Given the description of an element on the screen output the (x, y) to click on. 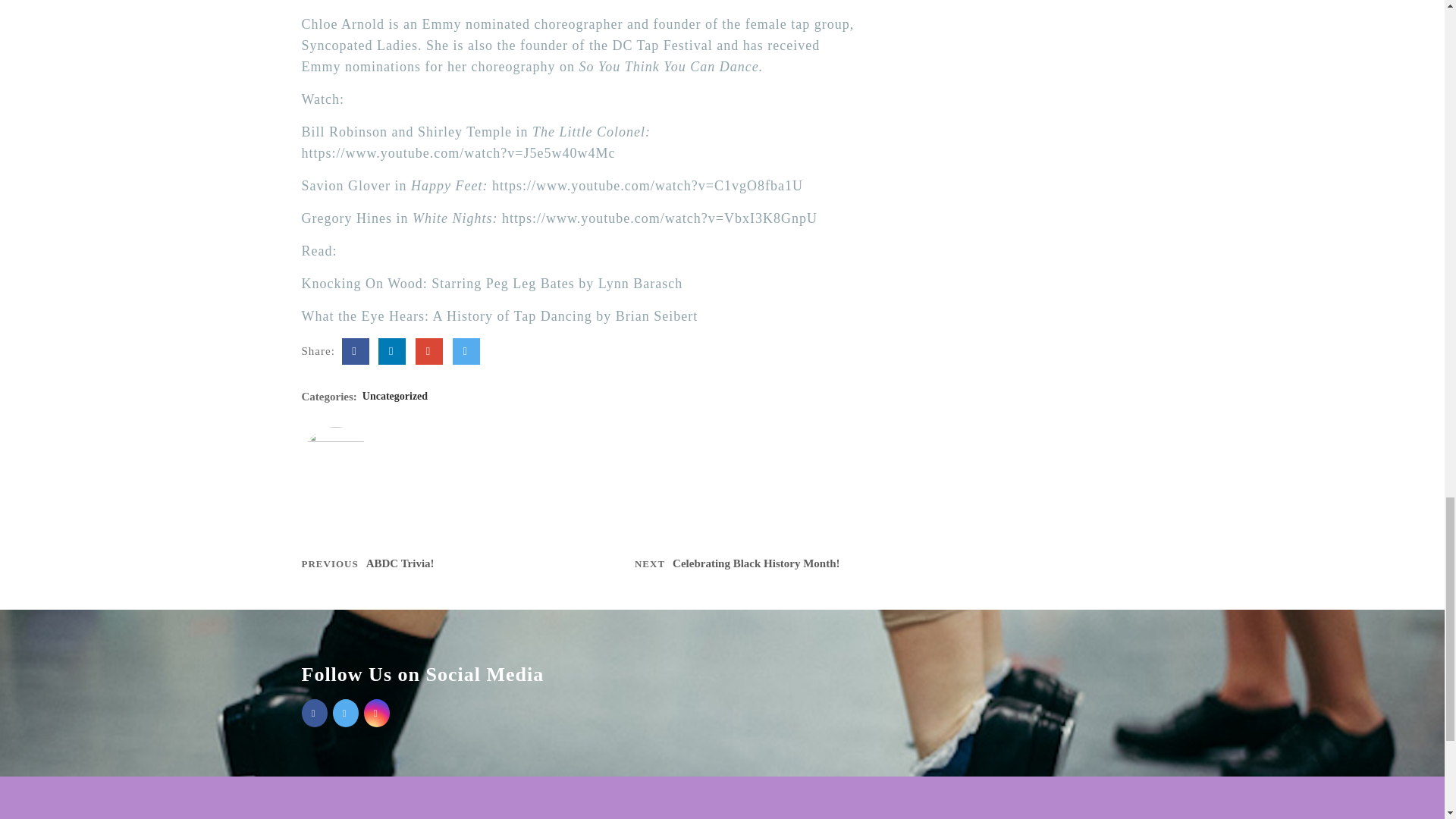
Uncategorized (395, 396)
